Given the description of an element on the screen output the (x, y) to click on. 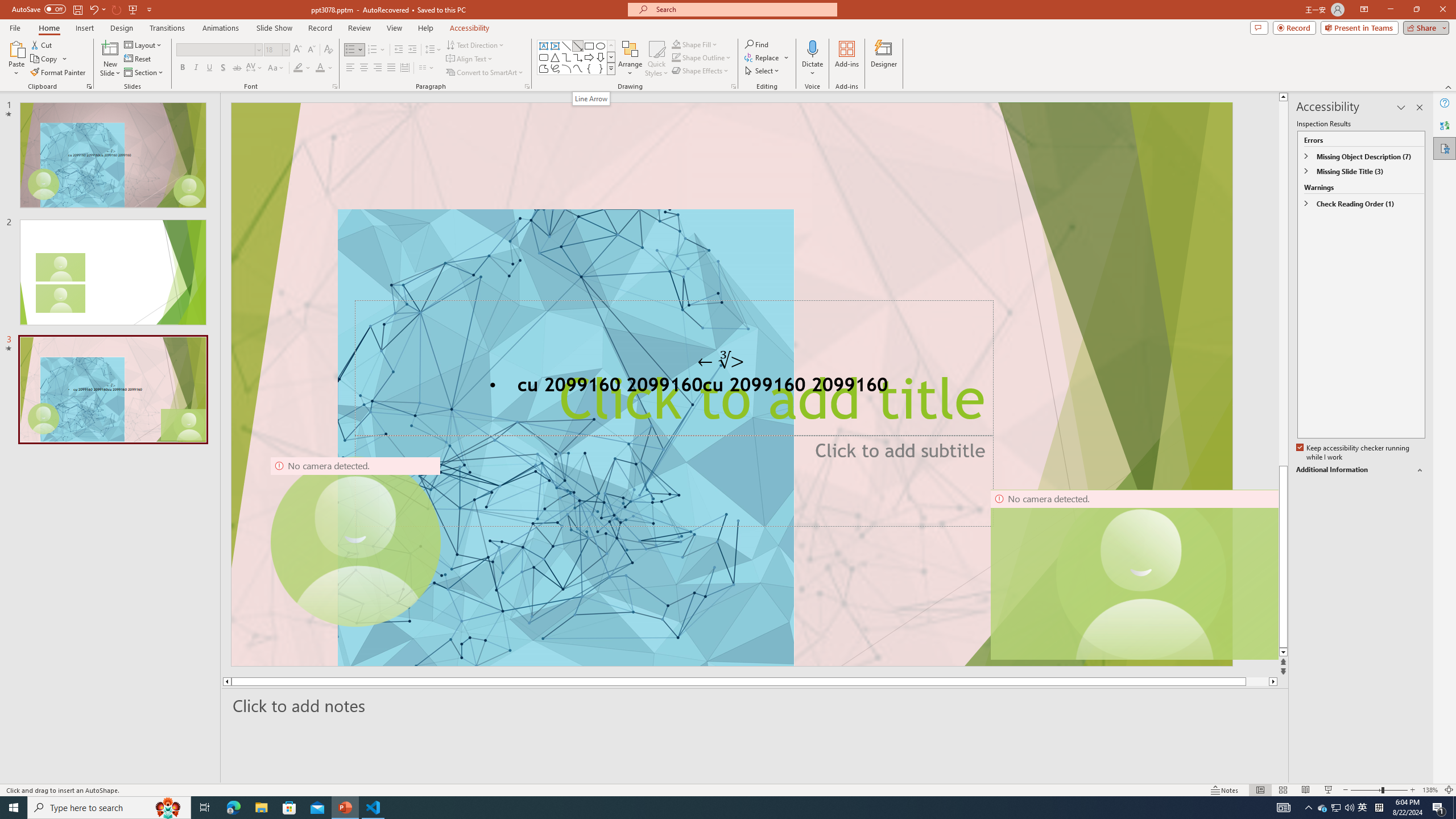
Align Right (377, 67)
Arrange (630, 58)
Select (762, 69)
Character Spacing (254, 67)
